Given the description of an element on the screen output the (x, y) to click on. 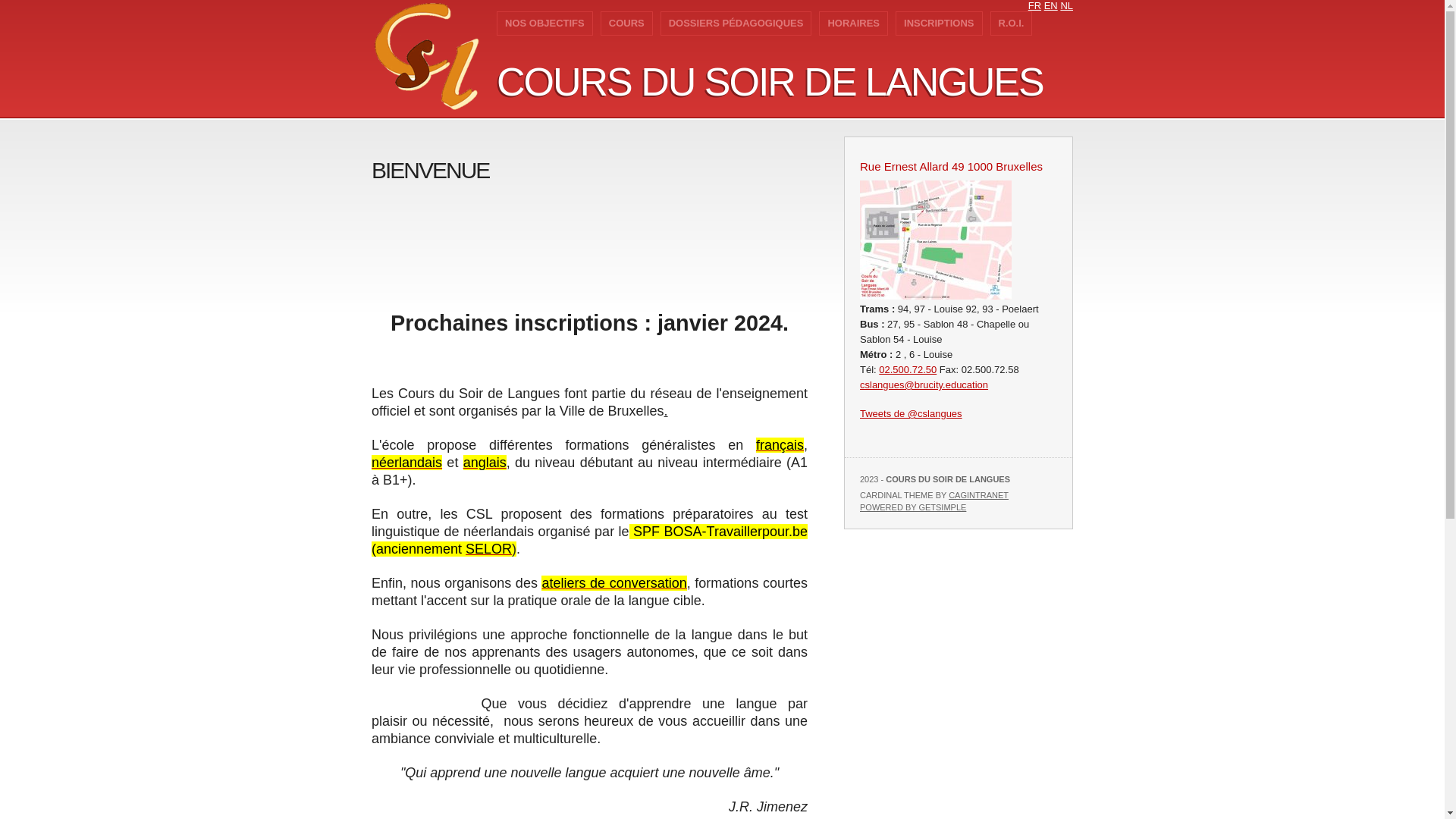
HORAIRES Element type: text (853, 23)
CAGINTRANET Element type: text (978, 494)
EN Element type: text (1050, 5)
R.O.I. Element type: text (1011, 23)
02.500.72.50 Element type: text (907, 369)
FR Element type: text (1034, 5)
COURS DU SOIR DE LANGUES Element type: text (769, 81)
Tweets de @cslangues Element type: text (910, 413)
COURS Element type: text (626, 23)
NOS OBJECTIFS Element type: text (544, 23)
POWERED BY GETSIMPLE Element type: text (912, 506)
ateliers de conversation Element type: text (613, 582)
cslangues@brucity.education Element type: text (923, 384)
anglais Element type: text (484, 462)
INSCRIPTIONS Element type: text (938, 23)
SELOR Element type: text (488, 548)
NL Element type: text (1066, 5)
